Given the description of an element on the screen output the (x, y) to click on. 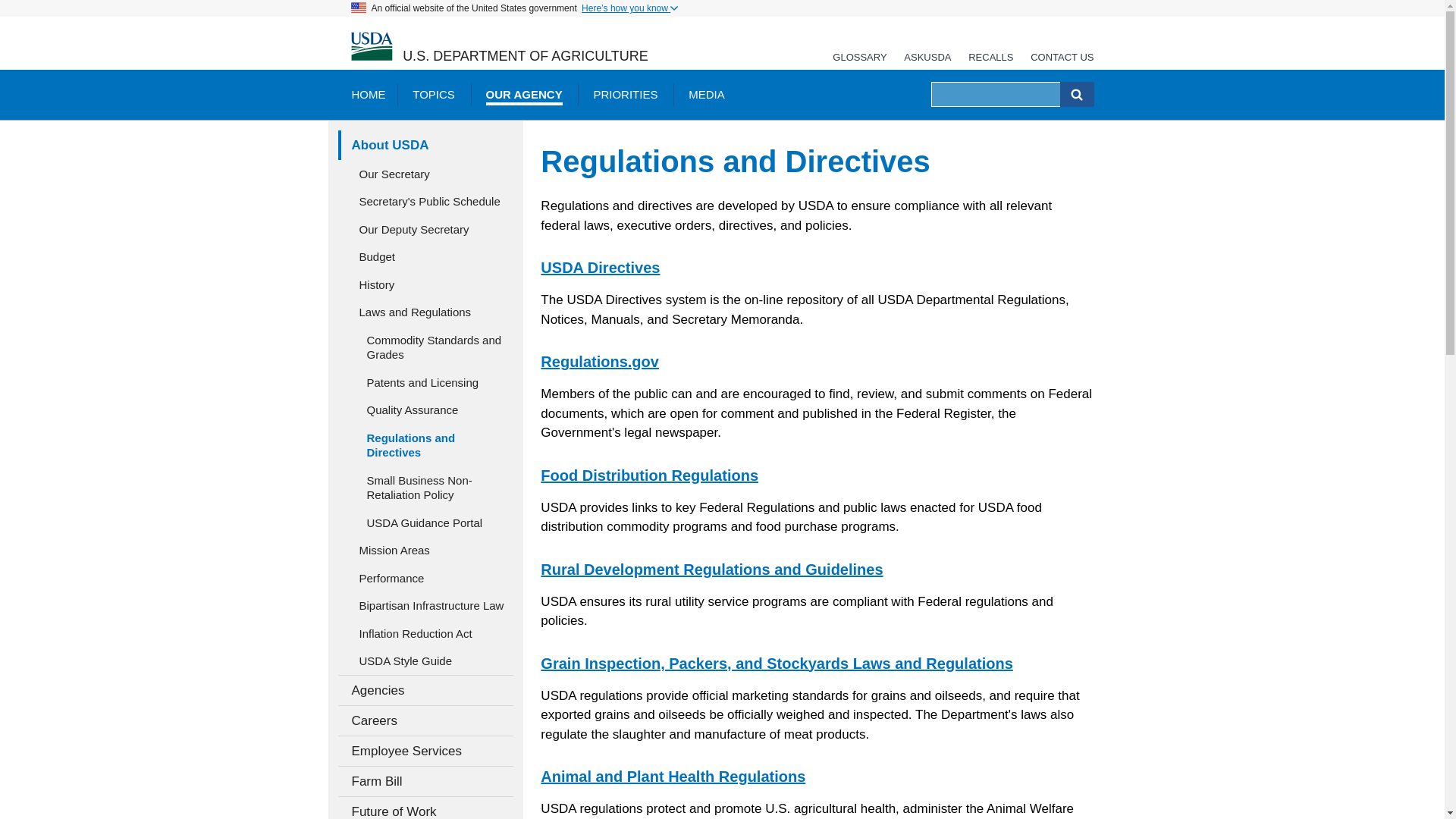
Home (370, 46)
TOPICS (433, 94)
OUR AGENCY (524, 94)
Secretary of Agriculture Tom Vilsack (425, 173)
Deputy Secretary of Agriculture Xochitl Torres Small (425, 229)
Home (525, 55)
U.S. DEPARTMENT OF AGRICULTURE (525, 55)
HOME (367, 94)
PRIORITIES (625, 94)
